Given the description of an element on the screen output the (x, y) to click on. 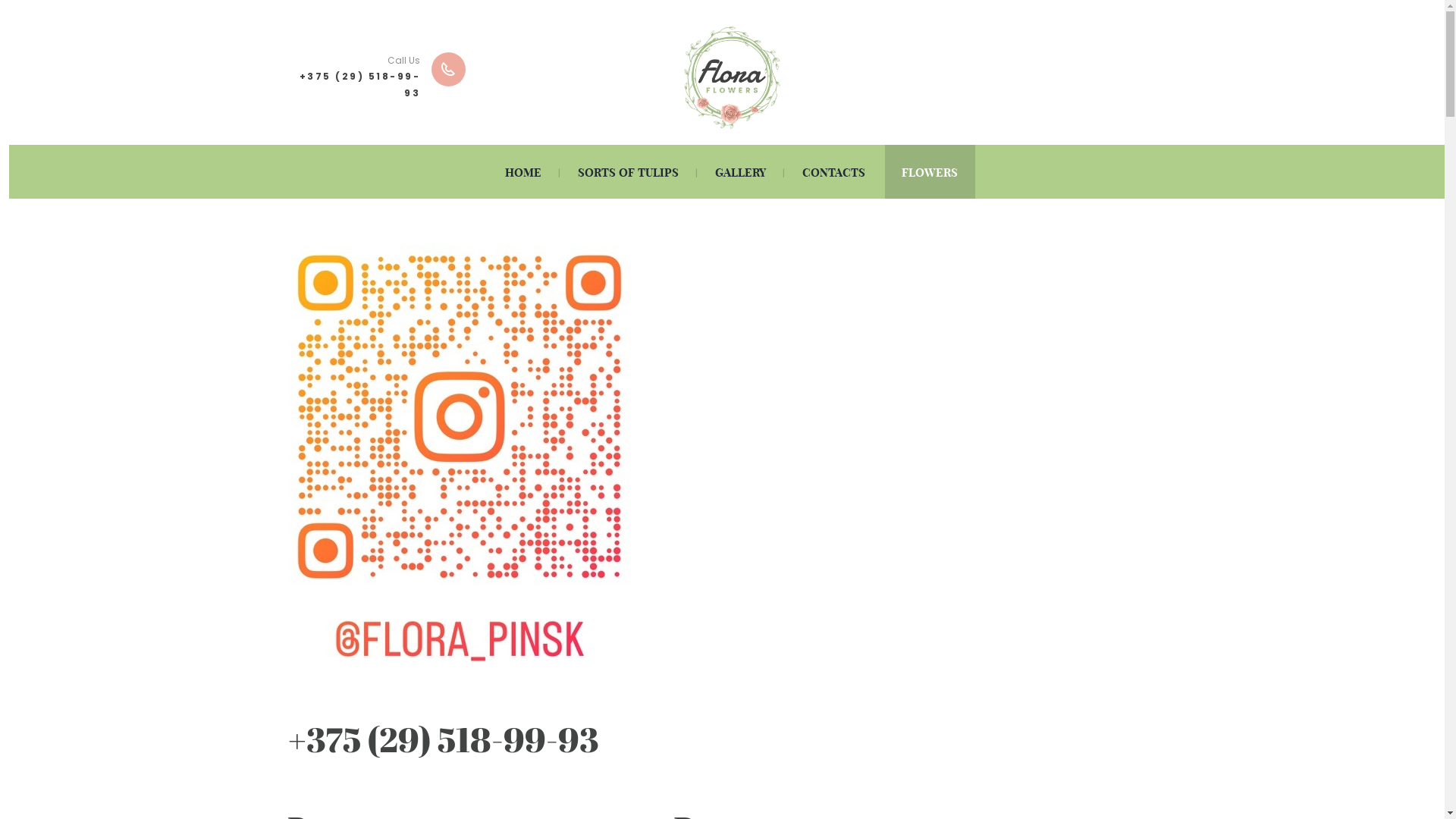
CONTACTS Element type: text (833, 171)
GALLERY Element type: text (739, 171)
+375 (29) 518-99-93 Element type: text (443, 738)
FLOWERS Element type: text (929, 171)
SORTS OF TULIPS Element type: text (628, 171)
+375 (29) 518-99-93 Element type: text (359, 84)
HOME Element type: text (523, 171)
